Given the description of an element on the screen output the (x, y) to click on. 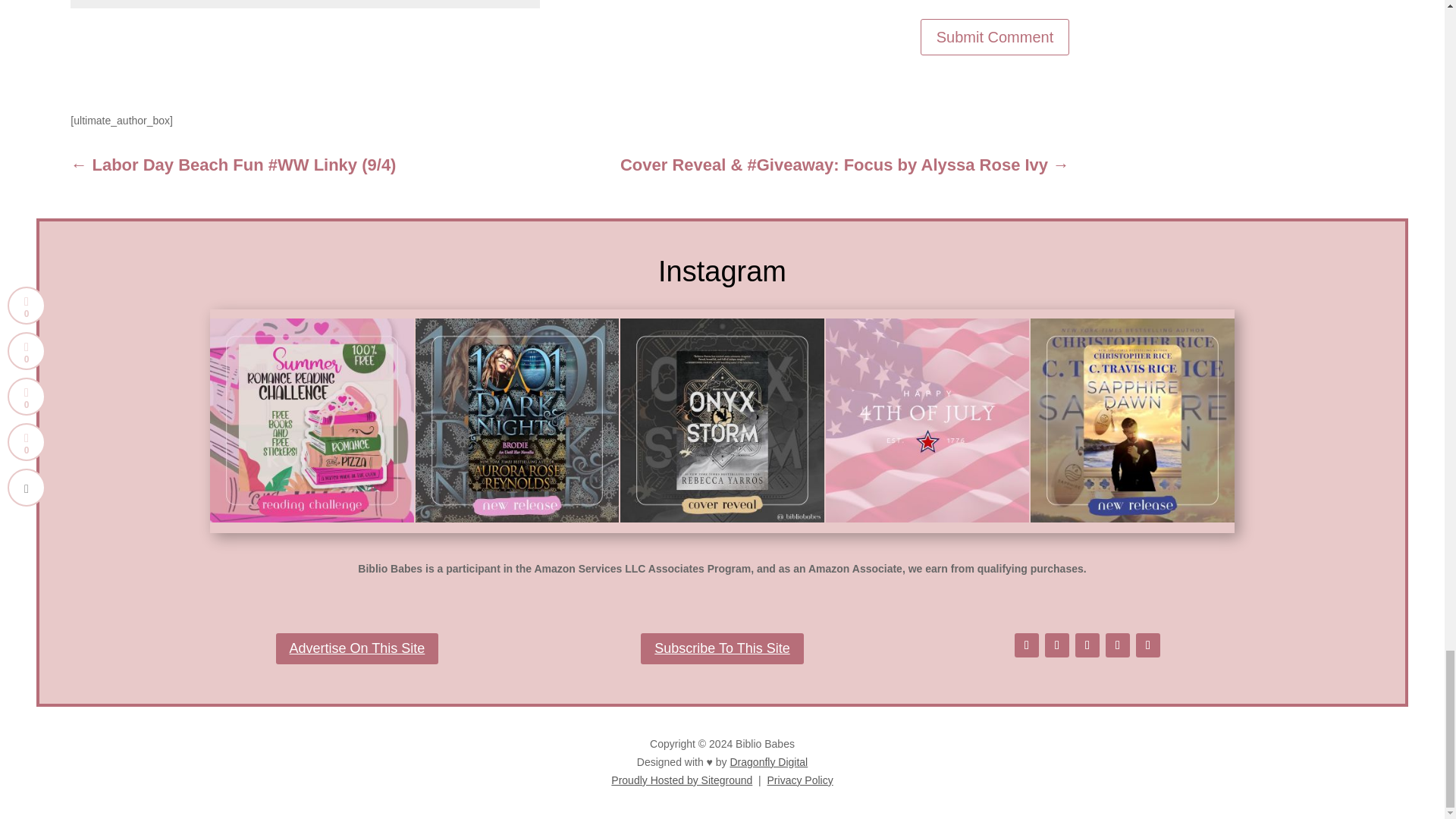
Follow on X (1056, 645)
Follow on Facebook (1026, 645)
Follow on Instagram (1087, 645)
